Given the description of an element on the screen output the (x, y) to click on. 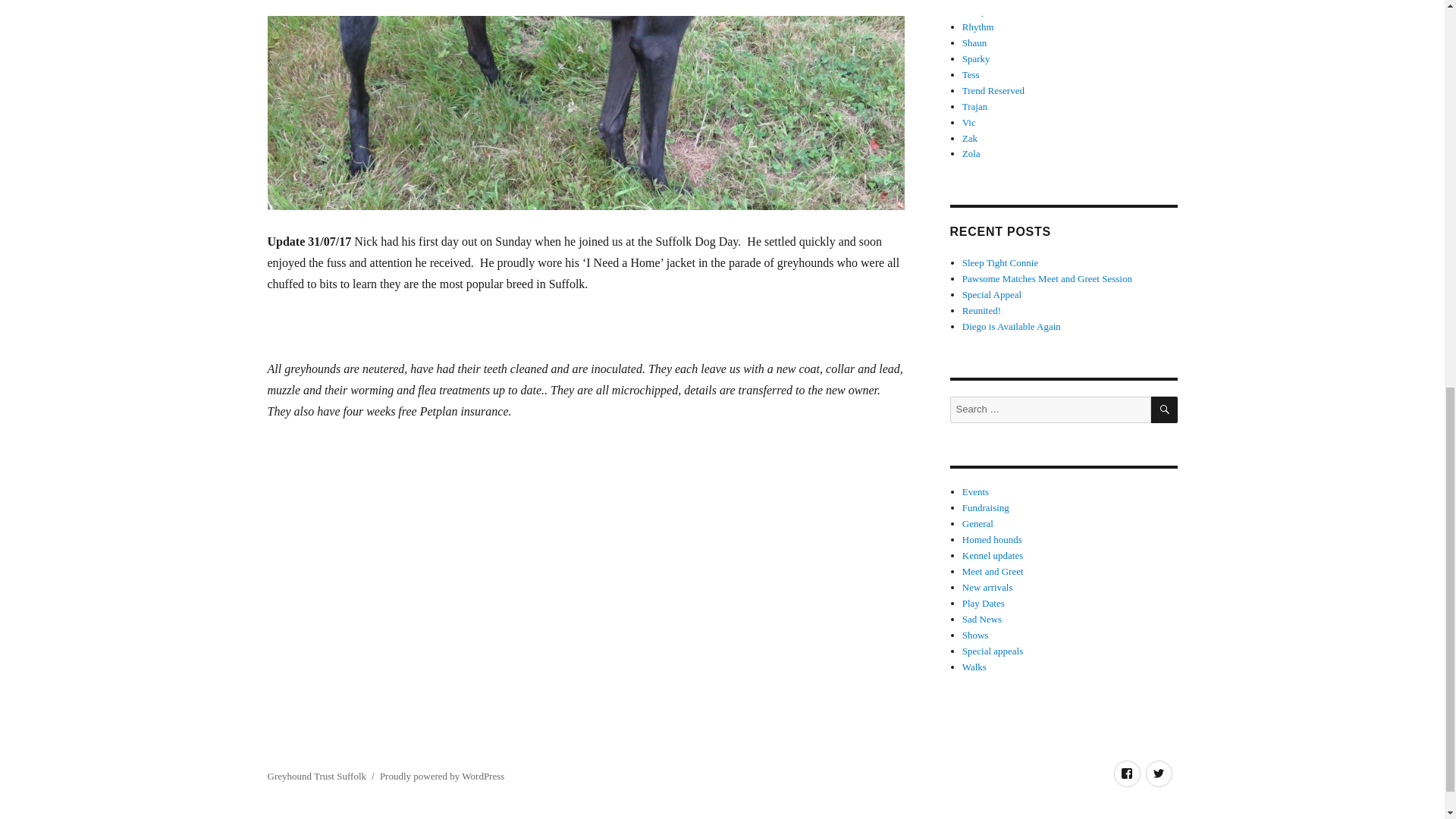
Shaun (974, 42)
Sparky (976, 58)
Molly (974, 10)
Tess (970, 74)
Rhythm (978, 26)
Search for: (1049, 409)
